Given the description of an element on the screen output the (x, y) to click on. 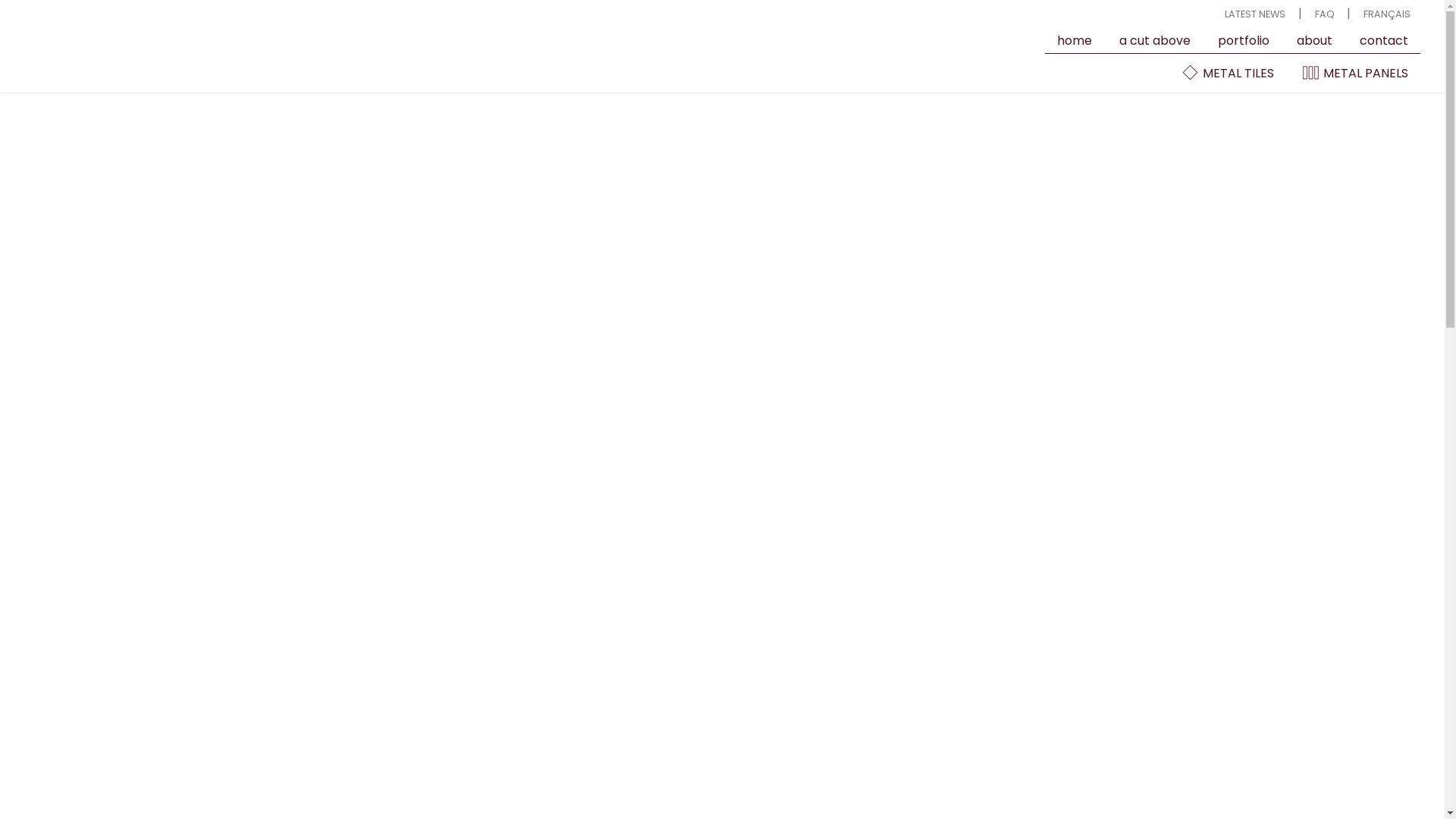
a cut above Element type: text (1154, 40)
about Element type: text (1314, 40)
home Element type: text (1074, 40)
portfolio Element type: text (1243, 40)
LATEST NEWS Element type: text (1254, 14)
METAL PANELS Element type: text (1354, 72)
METAL TILES Element type: text (1227, 72)
FAQ Element type: text (1324, 14)
contact Element type: text (1383, 40)
